Given the description of an element on the screen output the (x, y) to click on. 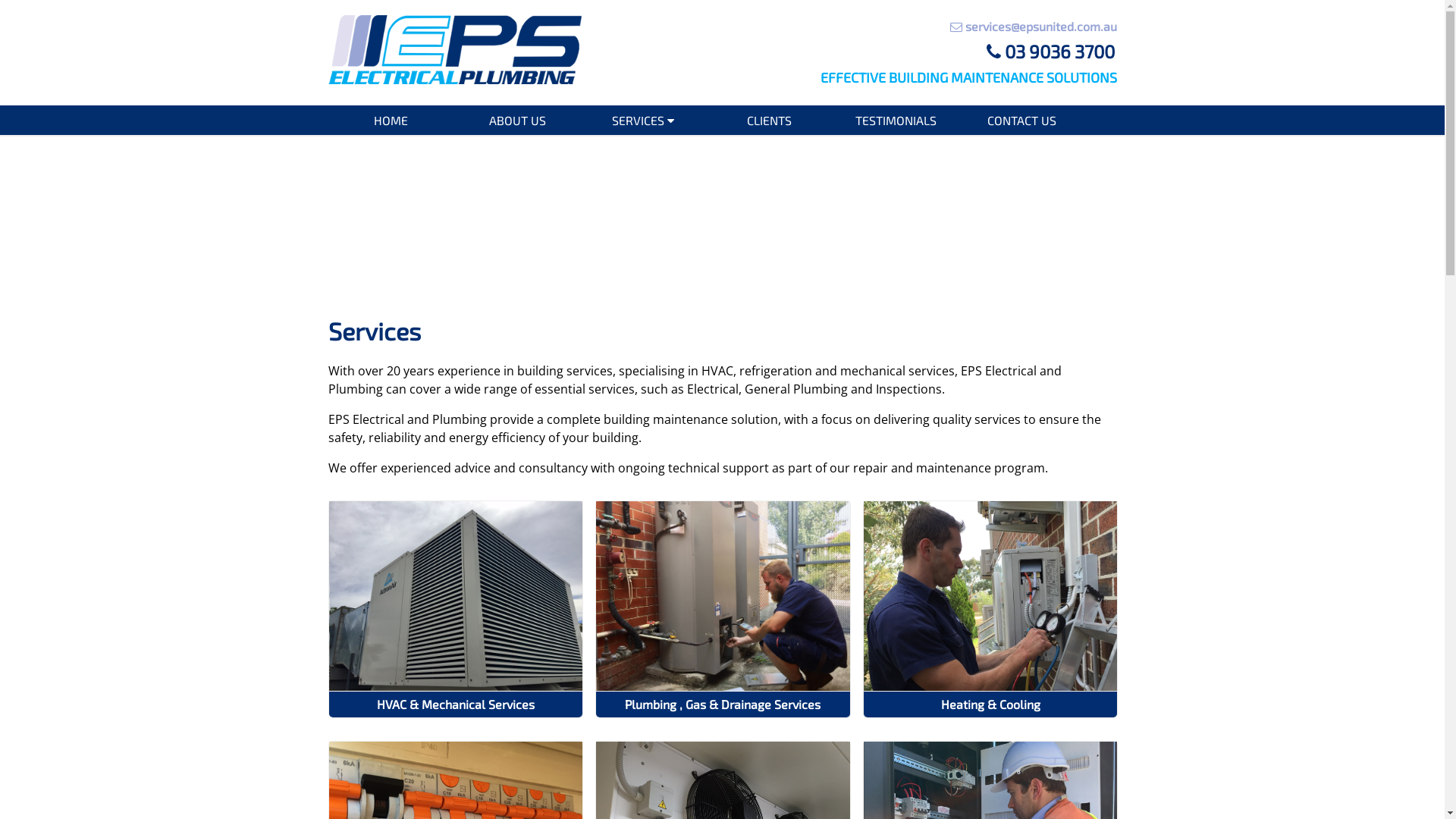
services@epsunited.com.au Element type: text (922, 26)
ABOUT US Element type: text (517, 120)
CONTACT US Element type: text (1021, 120)
SERVICES Element type: text (643, 120)
Services Element type: text (373, 330)
Heating & Cooling Element type: text (990, 703)
HVAC & Mechanical Services Element type: text (456, 703)
CLIENTS Element type: text (769, 120)
03 9036 3700 Element type: text (922, 51)
TESTIMONIALS Element type: text (895, 120)
Plumbing , Gas & Drainage Services Element type: text (723, 703)
HOME Element type: text (390, 120)
